Given the description of an element on the screen output the (x, y) to click on. 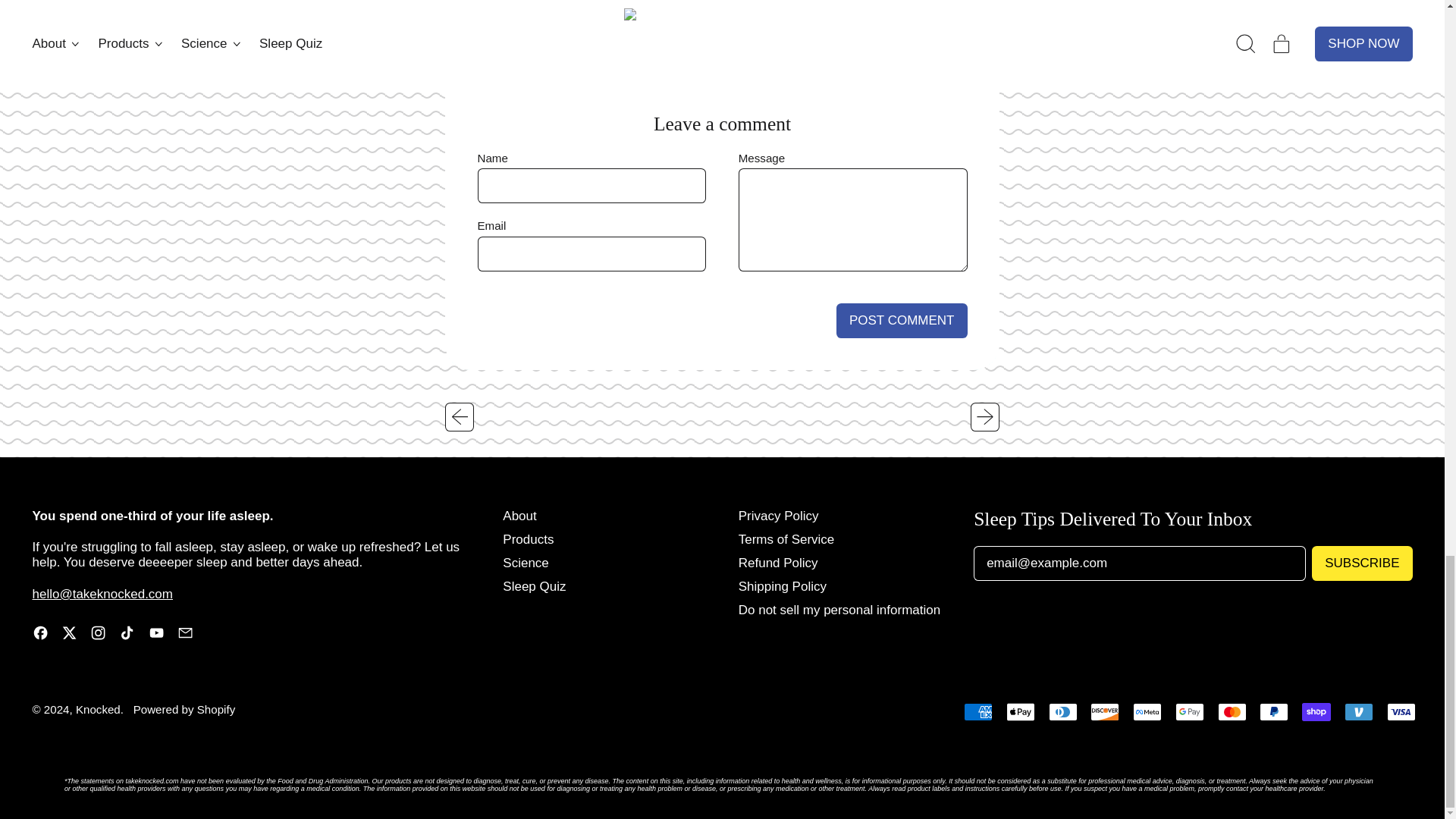
Twitter (69, 636)
Facebook (40, 636)
YouTube (156, 636)
Post comment (901, 320)
Share on Facebook (717, 8)
Science (525, 563)
Instagram (98, 636)
Products (527, 539)
Email (185, 636)
Pin on Pinterest (775, 8)
